Given the description of an element on the screen output the (x, y) to click on. 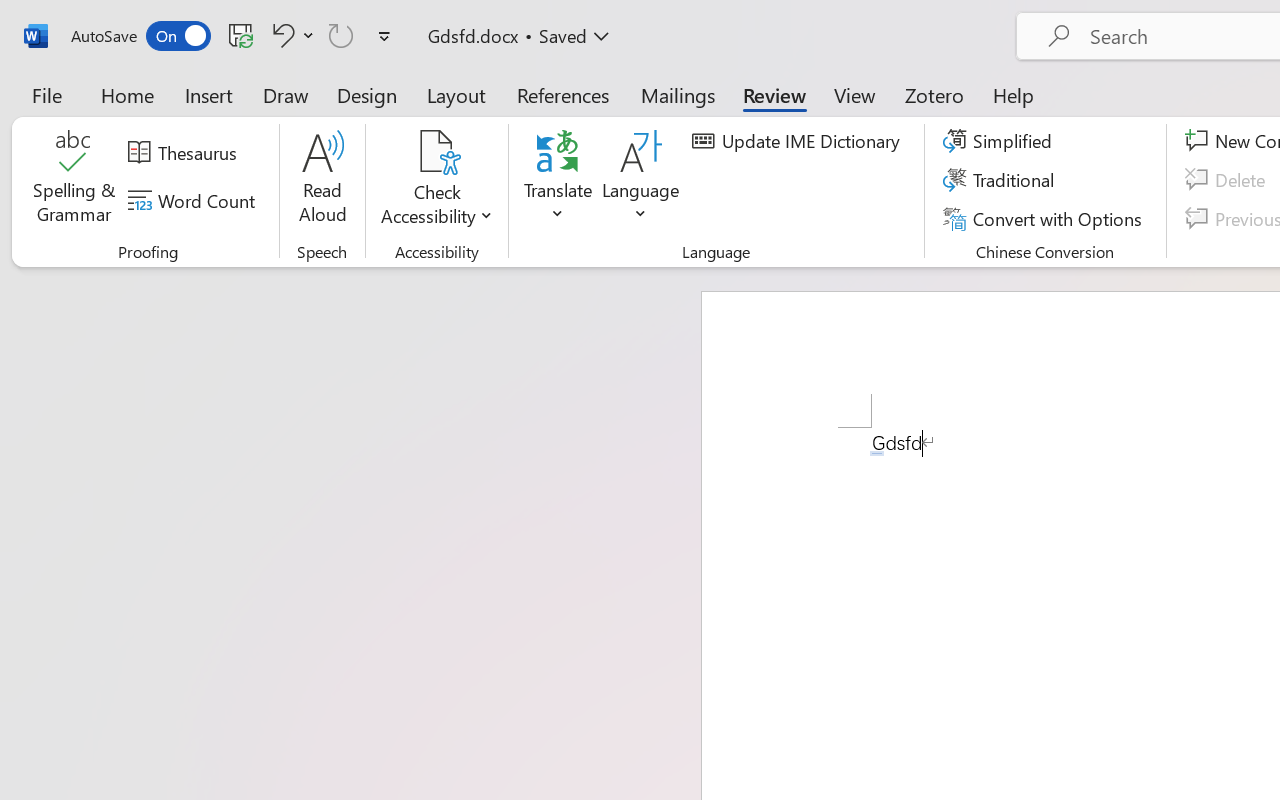
Check Accessibility (436, 151)
Delete (1227, 179)
Can't Repeat (341, 35)
Check Accessibility (436, 179)
Update IME Dictionary... (799, 141)
Word Count (194, 201)
Spelling & Grammar (74, 180)
